Given the description of an element on the screen output the (x, y) to click on. 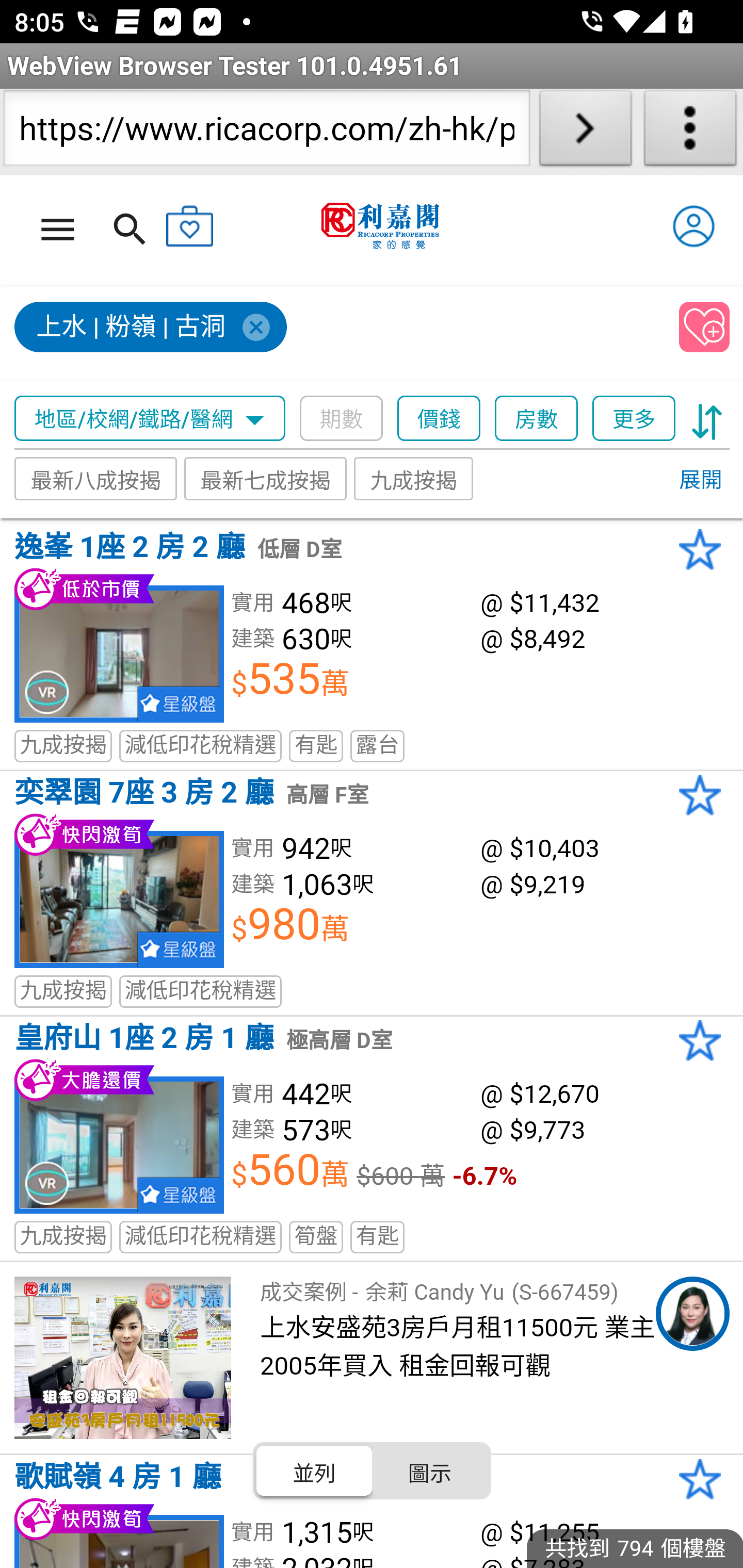
Load URL (585, 132)
About WebView (690, 132)
上水 | 粉嶺 | 古洞 (151, 327)
save (705, 327)
地區/校網/鐵路/醫網 (150, 418)
期數 (341, 418)
價錢 (439, 418)
房數 (536, 418)
更多 (634, 418)
sort (706, 418)
最新八成按揭 (96, 478)
最新七成按揭 (266, 478)
九成按揭 (413, 478)
展開 (699, 481)
Candy Yu (692, 1313)
並列 (314, 1470)
圖示 (429, 1470)
